Given the description of an element on the screen output the (x, y) to click on. 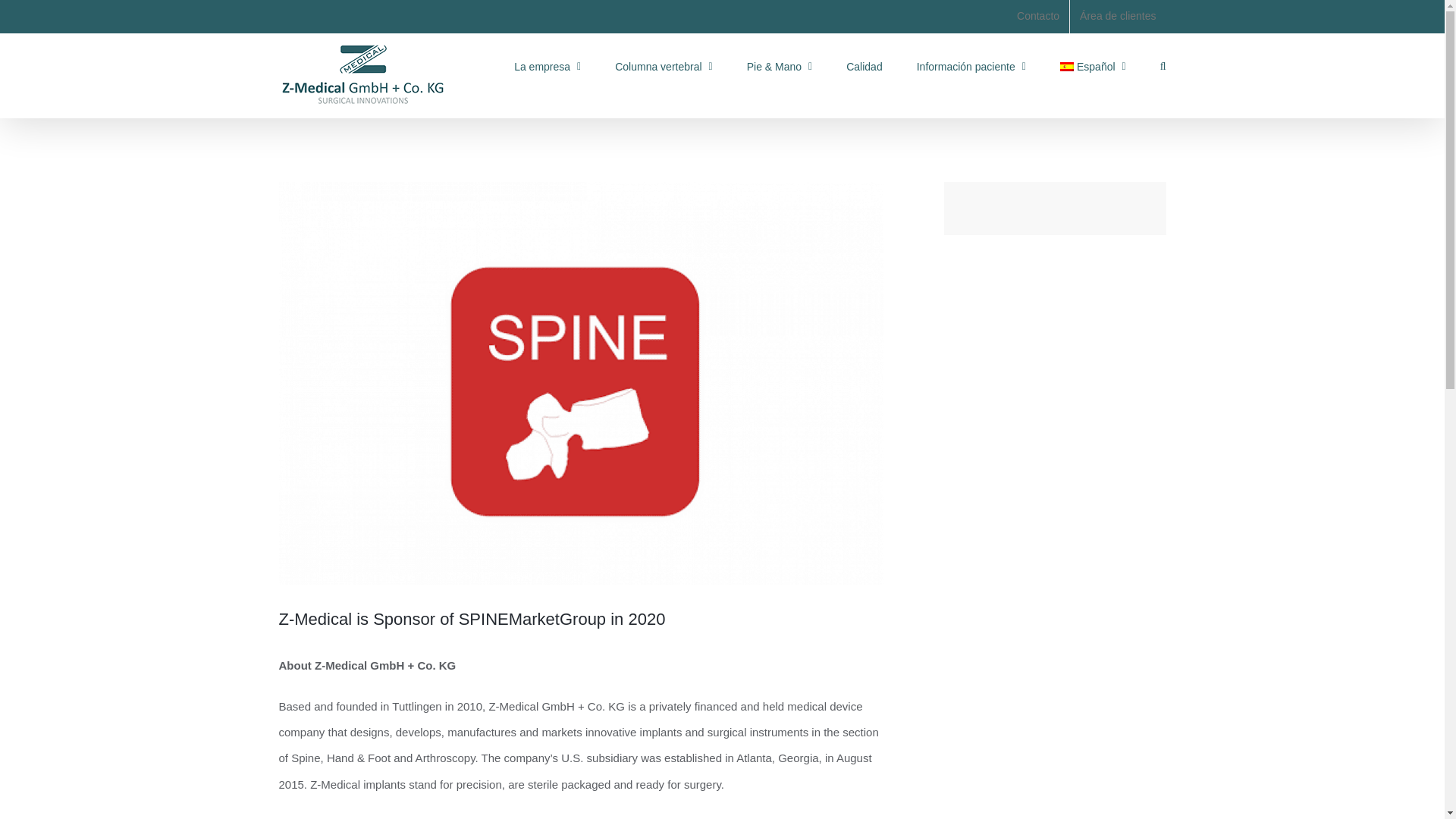
Contacto (1037, 16)
La empresa (546, 65)
Columna vertebral (663, 65)
